Given the description of an element on the screen output the (x, y) to click on. 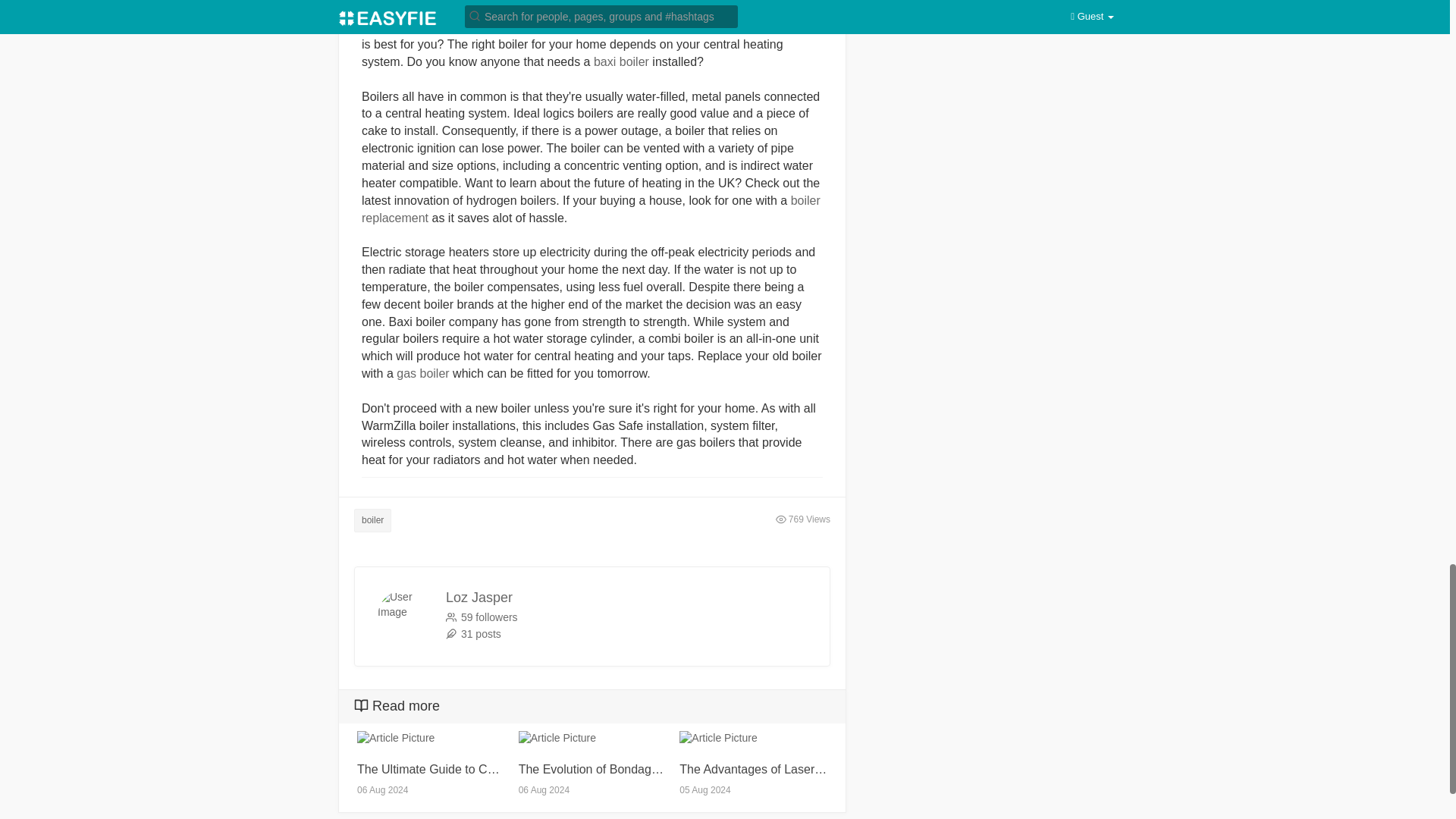
Loz Jasper (478, 597)
boiler (372, 520)
boiler replacement (591, 209)
baxi boiler (621, 61)
The Evolution of Bondage Straps in the Fashion Industry (592, 769)
gas boiler (422, 373)
